Given the description of an element on the screen output the (x, y) to click on. 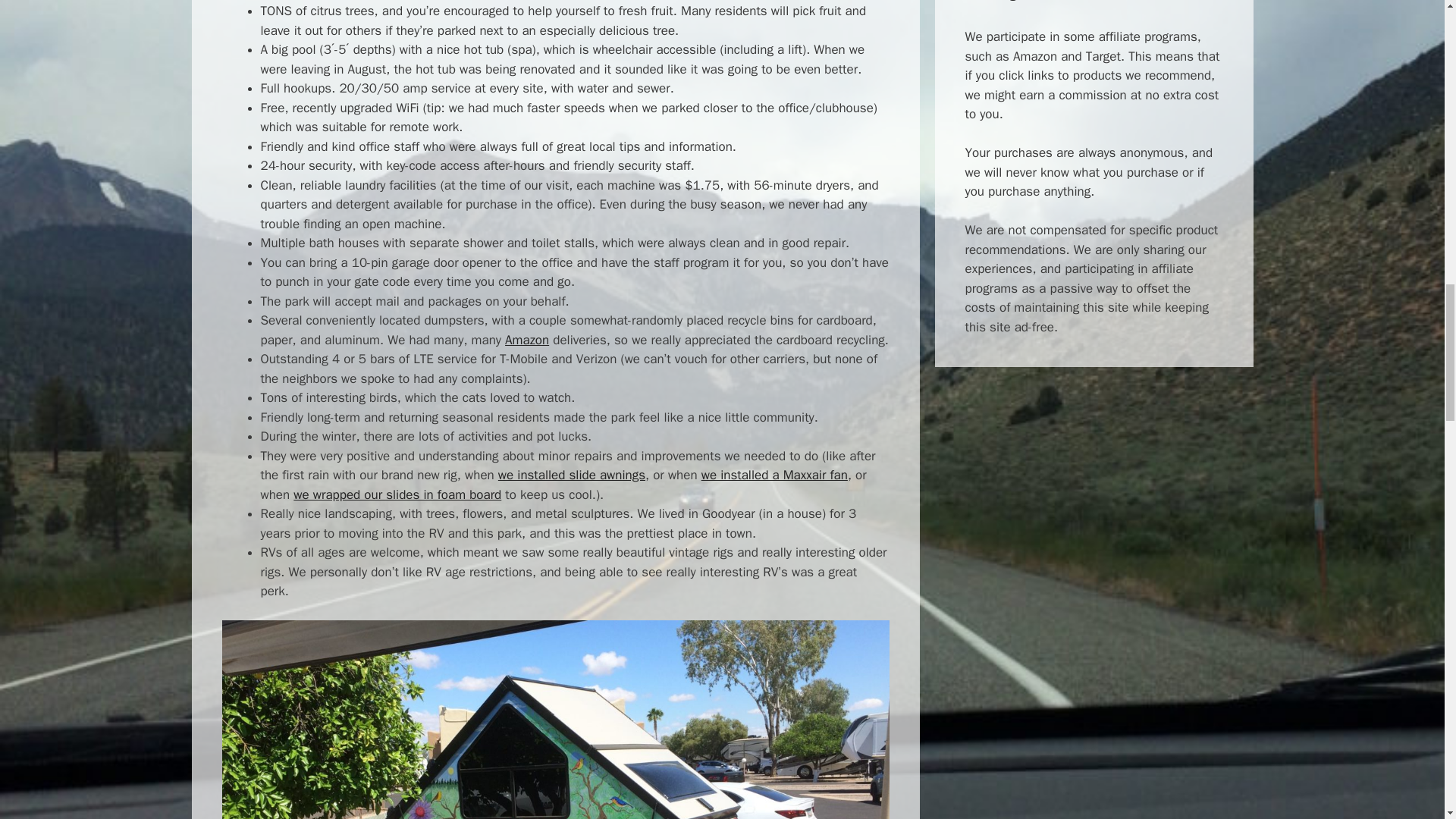
Amazon (526, 340)
we installed slide awnings (571, 474)
we wrapped our slides in foam board (397, 494)
we installed a Maxxair fan (774, 474)
